Given the description of an element on the screen output the (x, y) to click on. 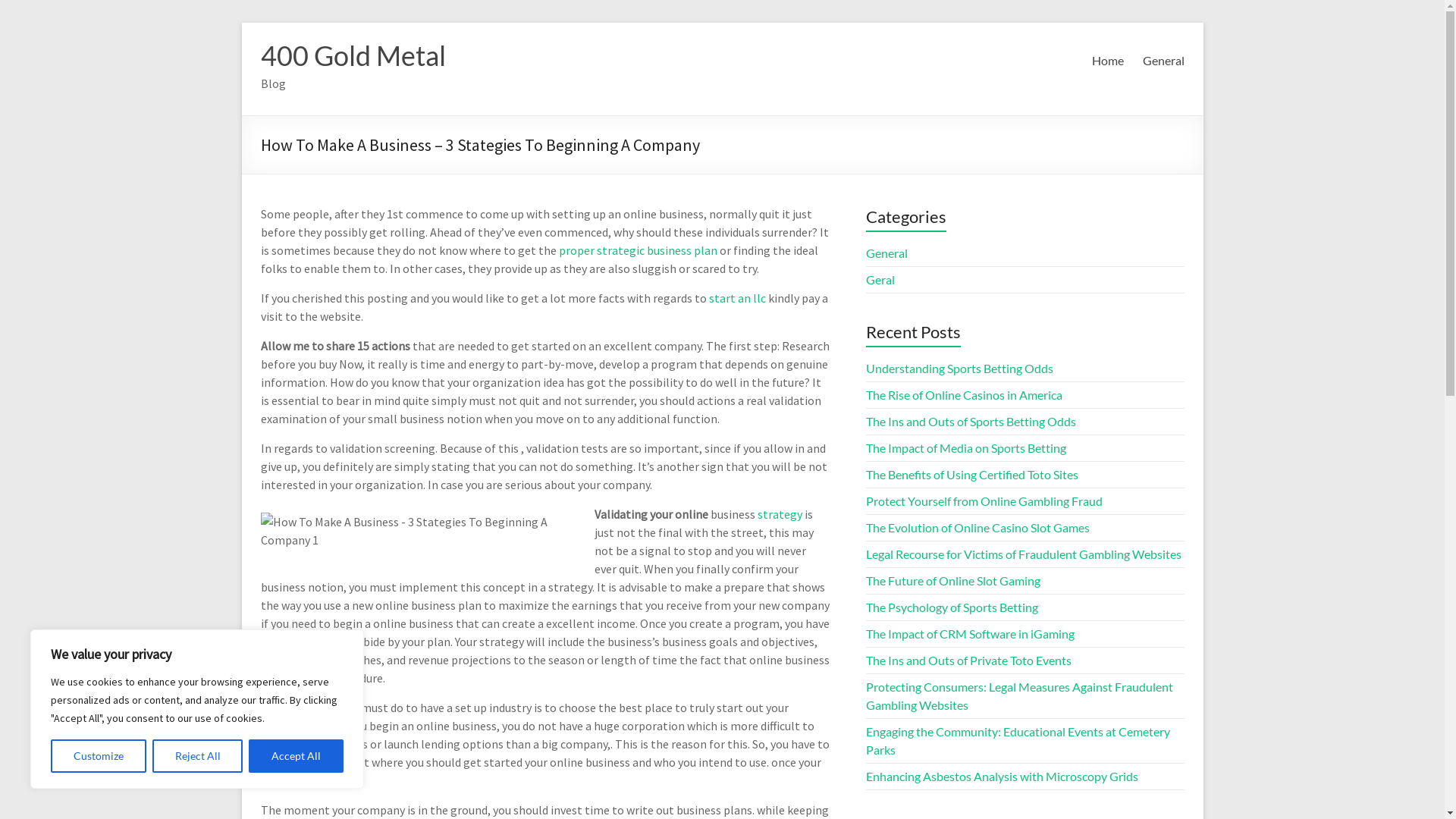
proper strategic Element type: text (600, 249)
start an llc Element type: text (736, 297)
Geral Element type: text (880, 279)
business plan Element type: text (681, 249)
The Evolution of Online Casino Slot Games Element type: text (977, 527)
The Ins and Outs of Sports Betting Odds Element type: text (971, 421)
strategy Element type: text (778, 513)
The Ins and Outs of Private Toto Events Element type: text (968, 659)
400 Gold Metal Element type: text (352, 55)
General Element type: text (886, 252)
Skip to content Element type: text (241, 21)
The Future of Online Slot Gaming Element type: text (953, 580)
Protect Yourself from Online Gambling Fraud Element type: text (984, 500)
Reject All Element type: text (197, 755)
Engaging the Community: Educational Events at Cemetery Parks Element type: text (1018, 740)
The Psychology of Sports Betting Element type: text (952, 606)
The Impact of Media on Sports Betting Element type: text (966, 447)
Legal Recourse for Victims of Fraudulent Gambling Websites Element type: text (1023, 553)
Enhancing Asbestos Analysis with Microscopy Grids Element type: text (1002, 775)
The Benefits of Using Certified Toto Sites Element type: text (972, 474)
Understanding Sports Betting Odds Element type: text (959, 367)
General Element type: text (1162, 60)
Customize Element type: text (98, 755)
Home Element type: text (1107, 60)
The Impact of CRM Software in iGaming Element type: text (970, 633)
The Rise of Online Casinos in America Element type: text (964, 394)
Accept All Element type: text (295, 755)
